Given the description of an element on the screen output the (x, y) to click on. 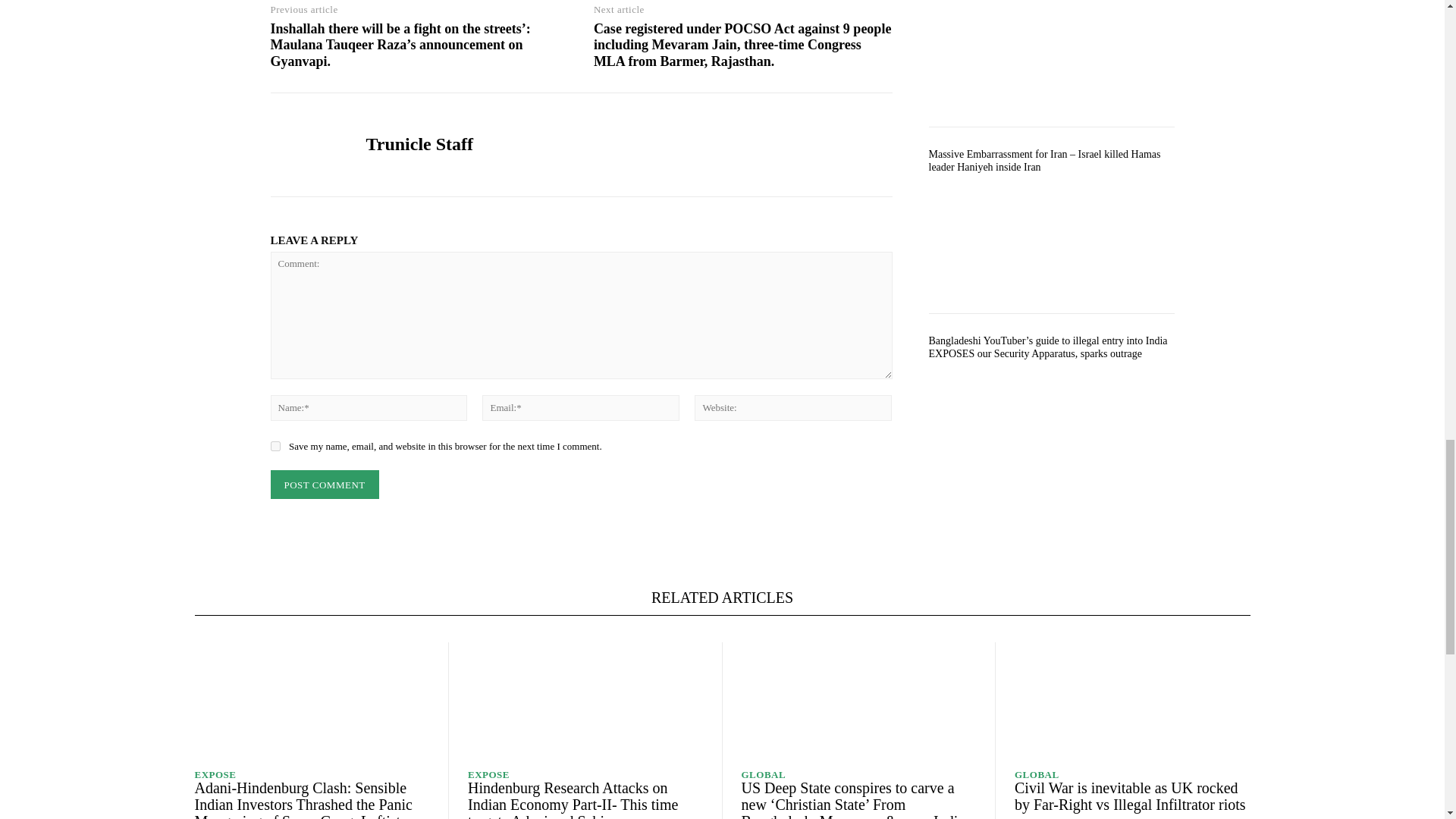
Trunicle Staff (305, 144)
Post Comment (323, 484)
yes (274, 446)
